Given the description of an element on the screen output the (x, y) to click on. 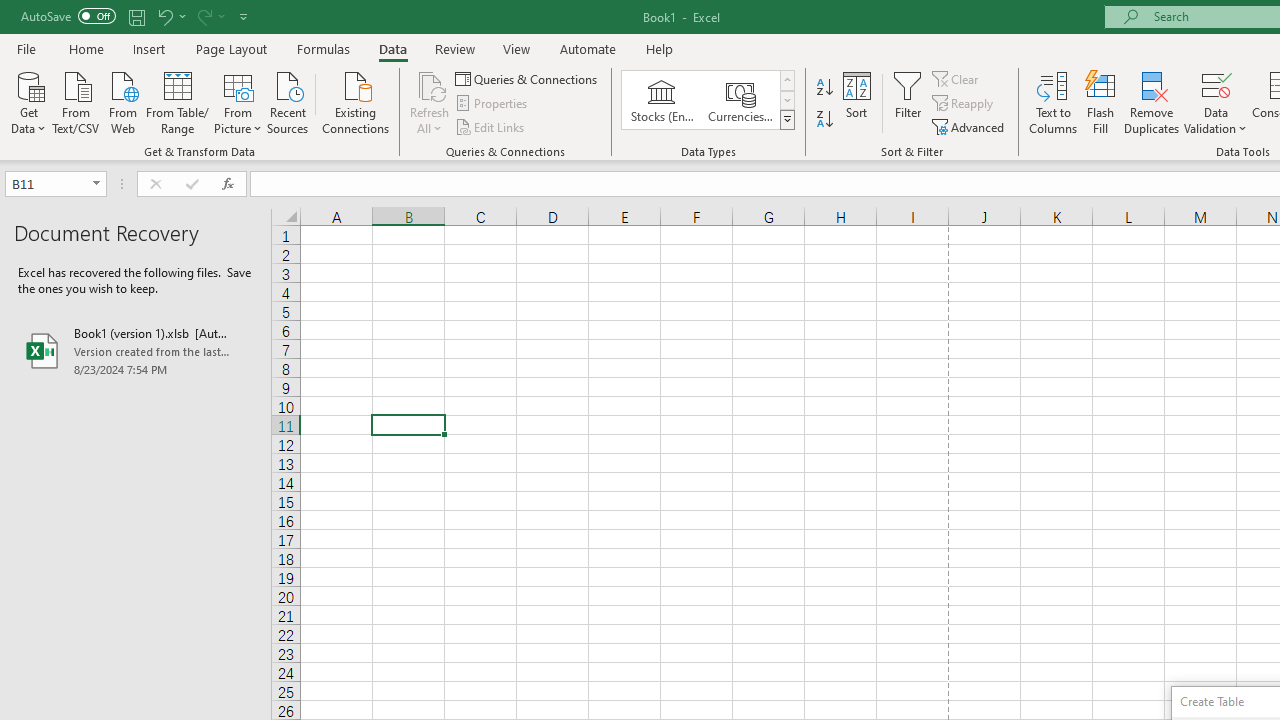
Queries & Connections (527, 78)
Reapply (964, 103)
From Web (122, 101)
Sort A to Z (824, 87)
Recent Sources (287, 101)
Filter (908, 102)
Text to Columns... (1053, 102)
